Given the description of an element on the screen output the (x, y) to click on. 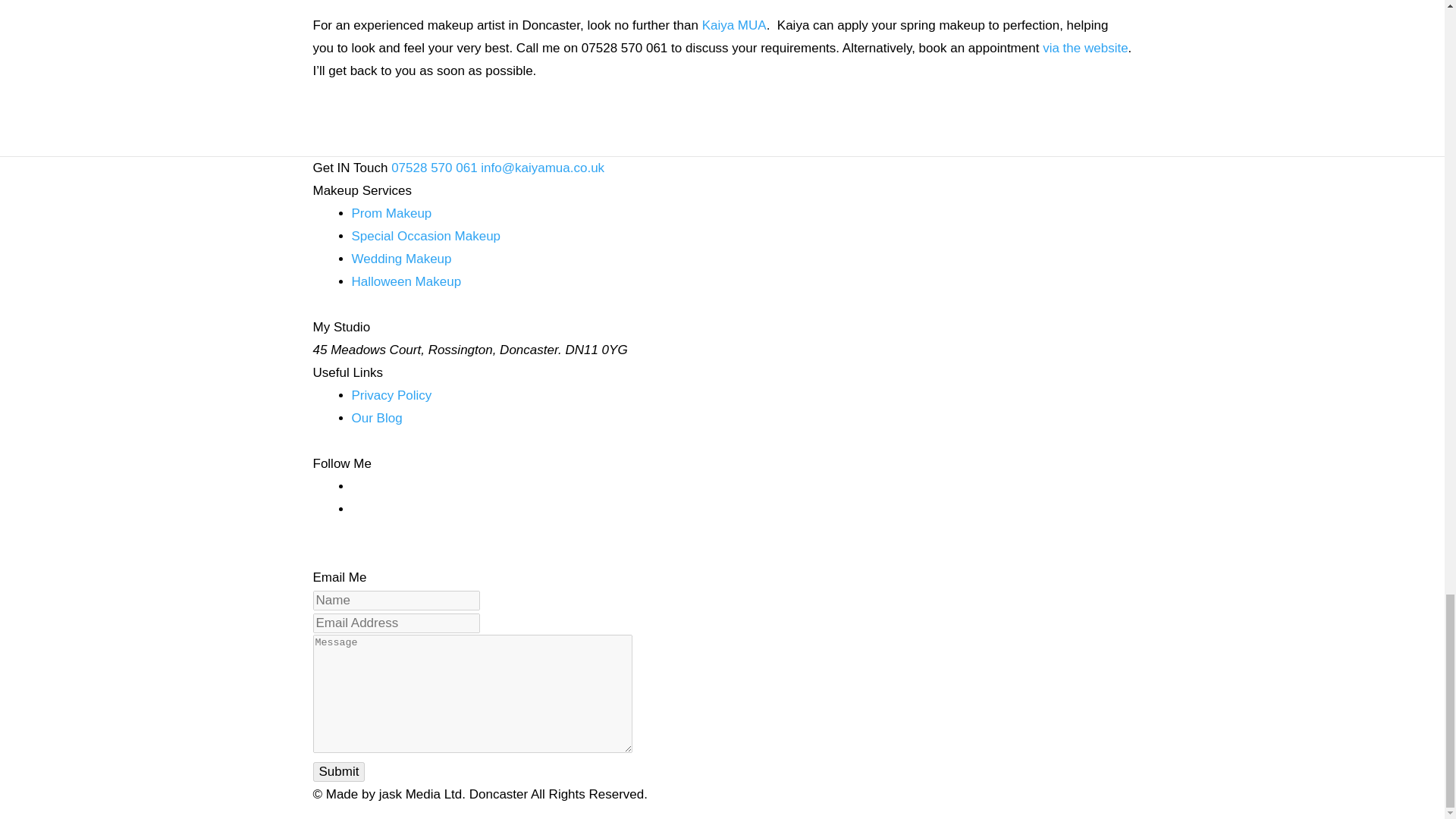
Special Occasion Makeup (426, 236)
Kaiya MUA (734, 25)
Halloween Makeup (406, 281)
Our Blog (377, 418)
07528 570 061 (434, 167)
via the website (1084, 47)
Submit (339, 772)
Privacy Policy (392, 395)
Wedding Makeup (401, 258)
Prom Makeup (392, 213)
Submit (339, 772)
